Given the description of an element on the screen output the (x, y) to click on. 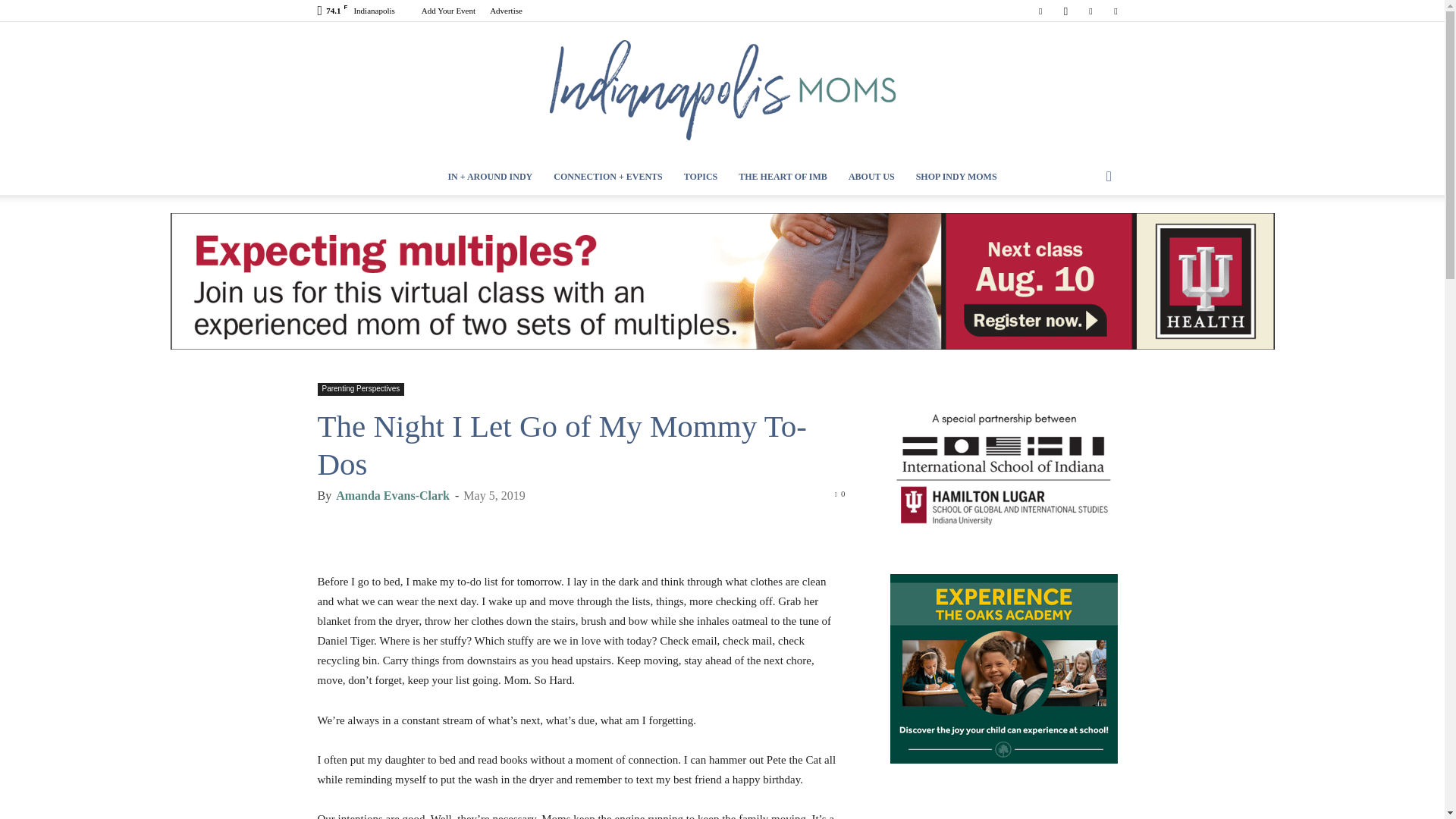
Facebook (1040, 10)
Instagram (1065, 10)
Advertise (505, 10)
Indianapolis Moms (721, 90)
Add Your Event (449, 10)
Twitter (1114, 10)
Pinterest (1090, 10)
